Given the description of an element on the screen output the (x, y) to click on. 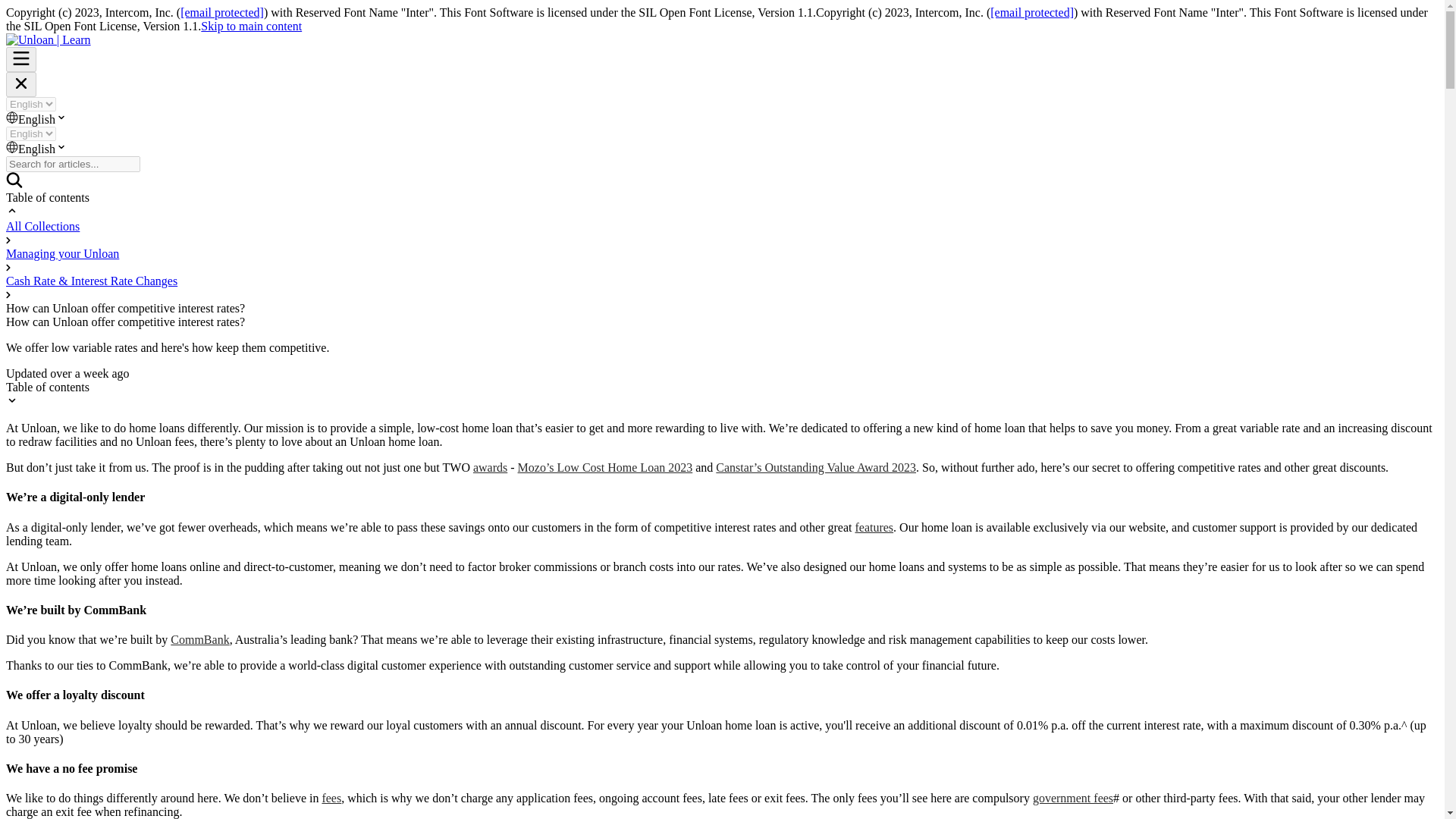
features (873, 526)
awards (489, 467)
All Collections (42, 226)
government fees (1072, 797)
CommBank (199, 639)
Managing your Unloan (62, 253)
fees (330, 797)
Skip to main content (250, 25)
